Given the description of an element on the screen output the (x, y) to click on. 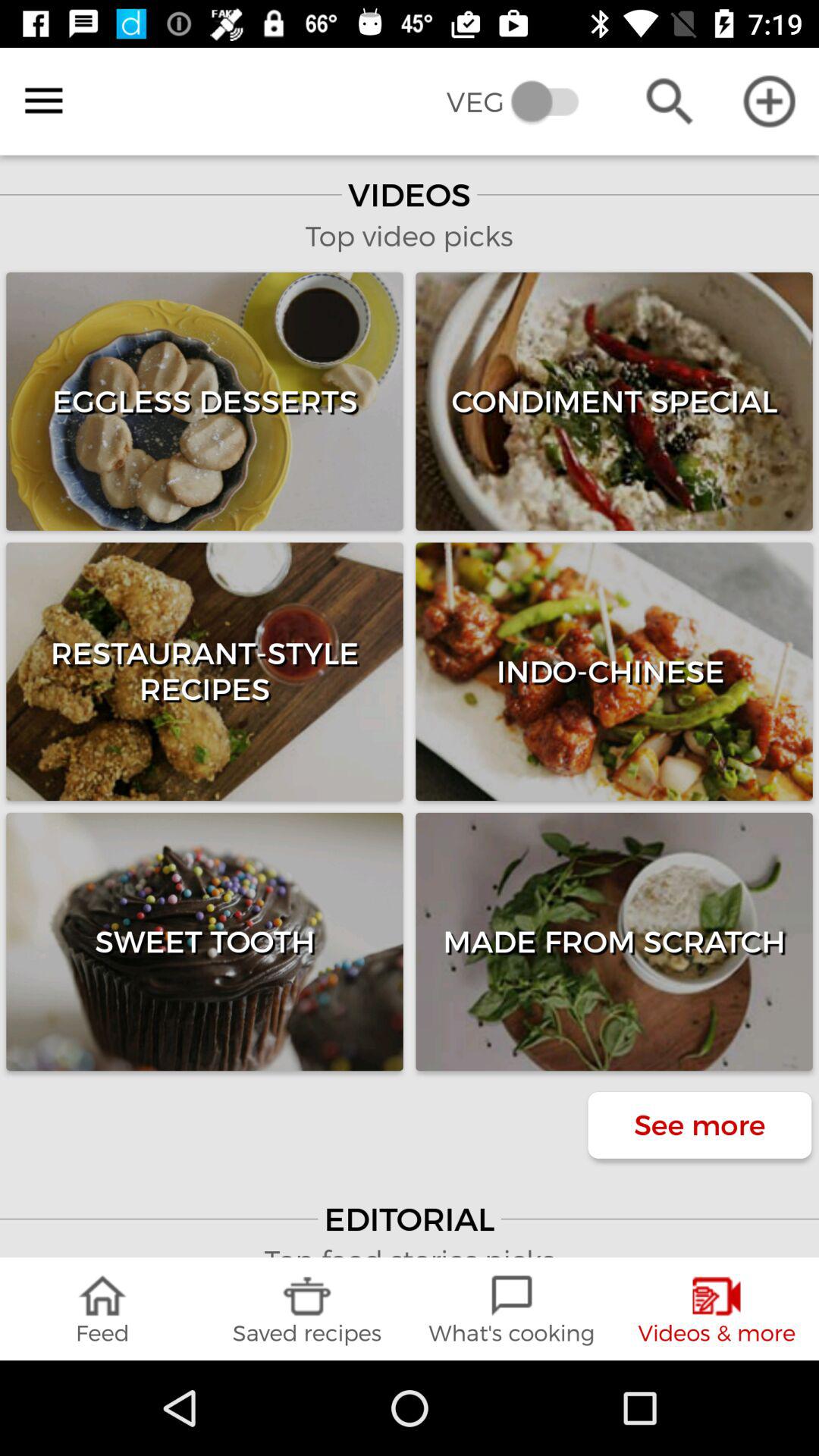
press the what's cooking icon (511, 1308)
